Given the description of an element on the screen output the (x, y) to click on. 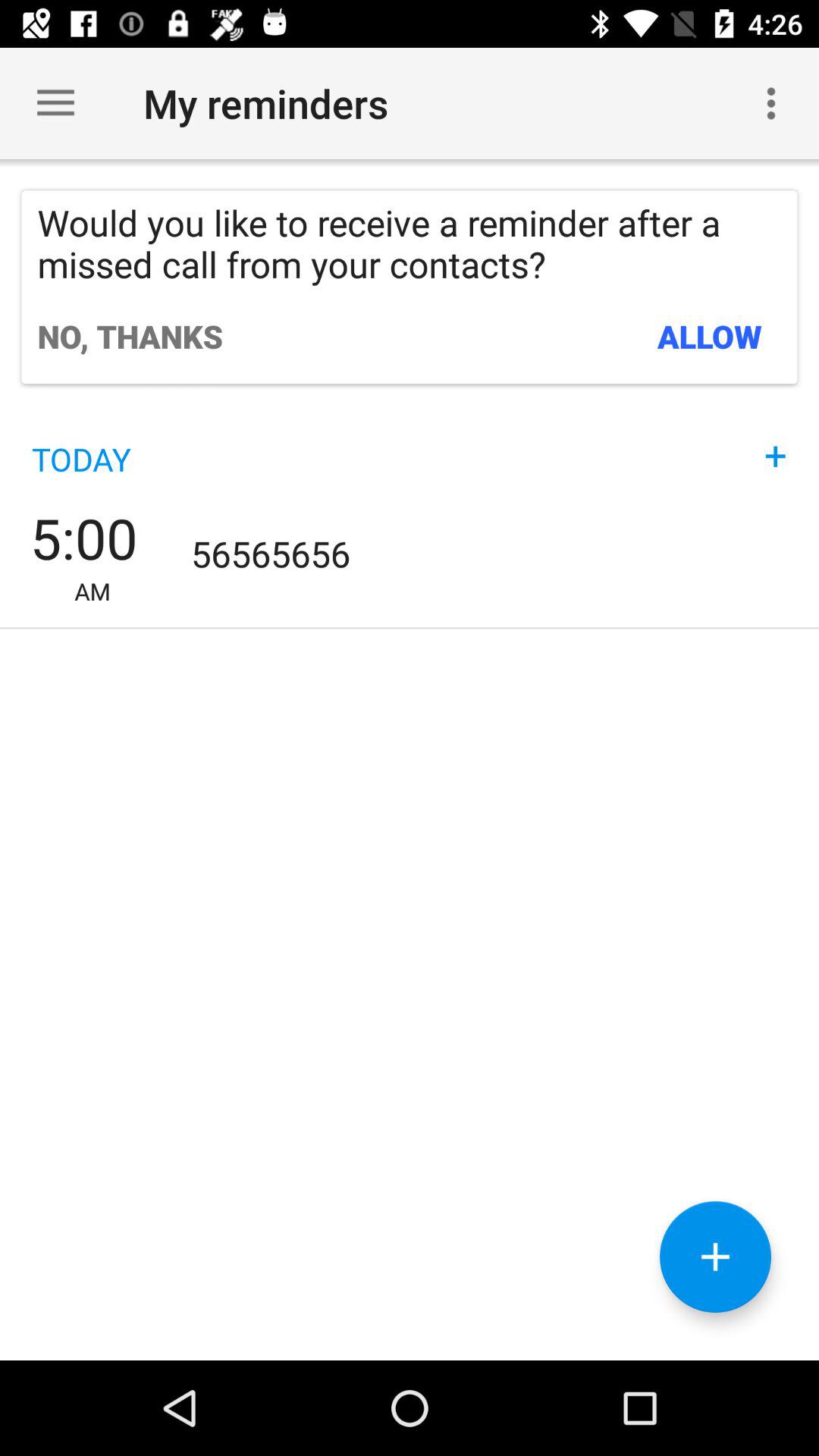
click icon next to the no, thanks icon (709, 335)
